Given the description of an element on the screen output the (x, y) to click on. 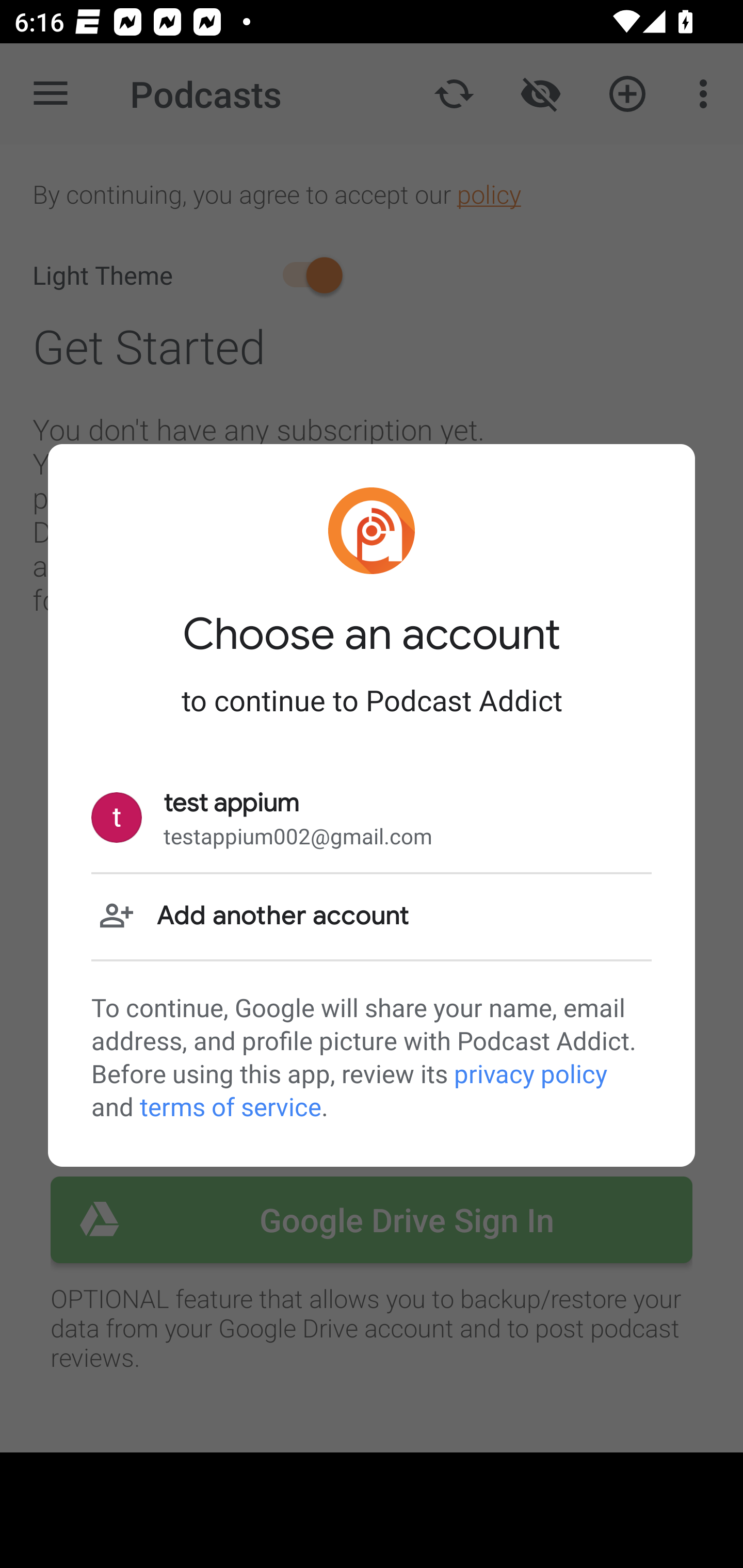
test appium testappium002@gmail.com (371, 817)
Add another account (371, 915)
